Given the description of an element on the screen output the (x, y) to click on. 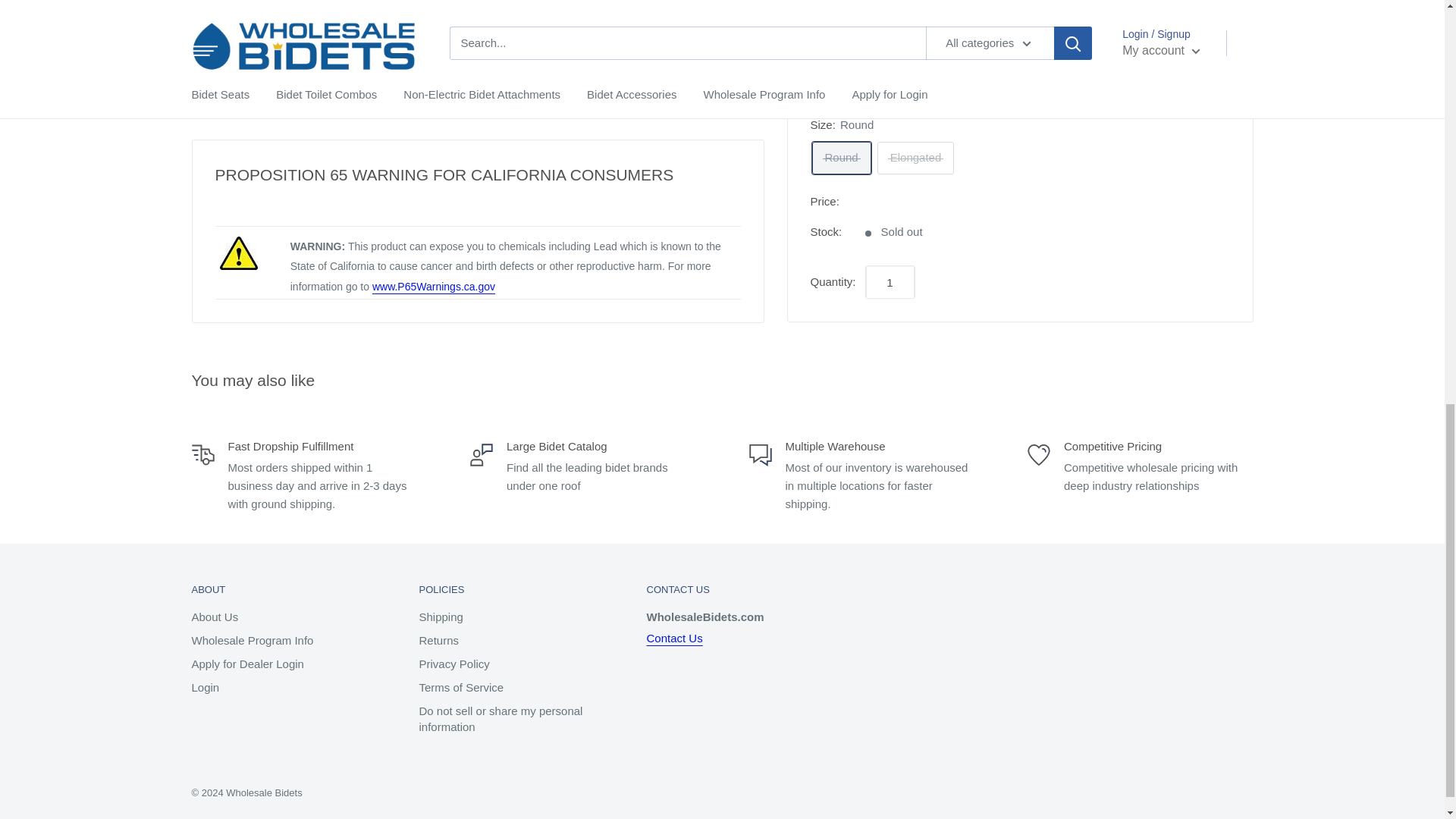
Contact Us (673, 637)
